Given the description of an element on the screen output the (x, y) to click on. 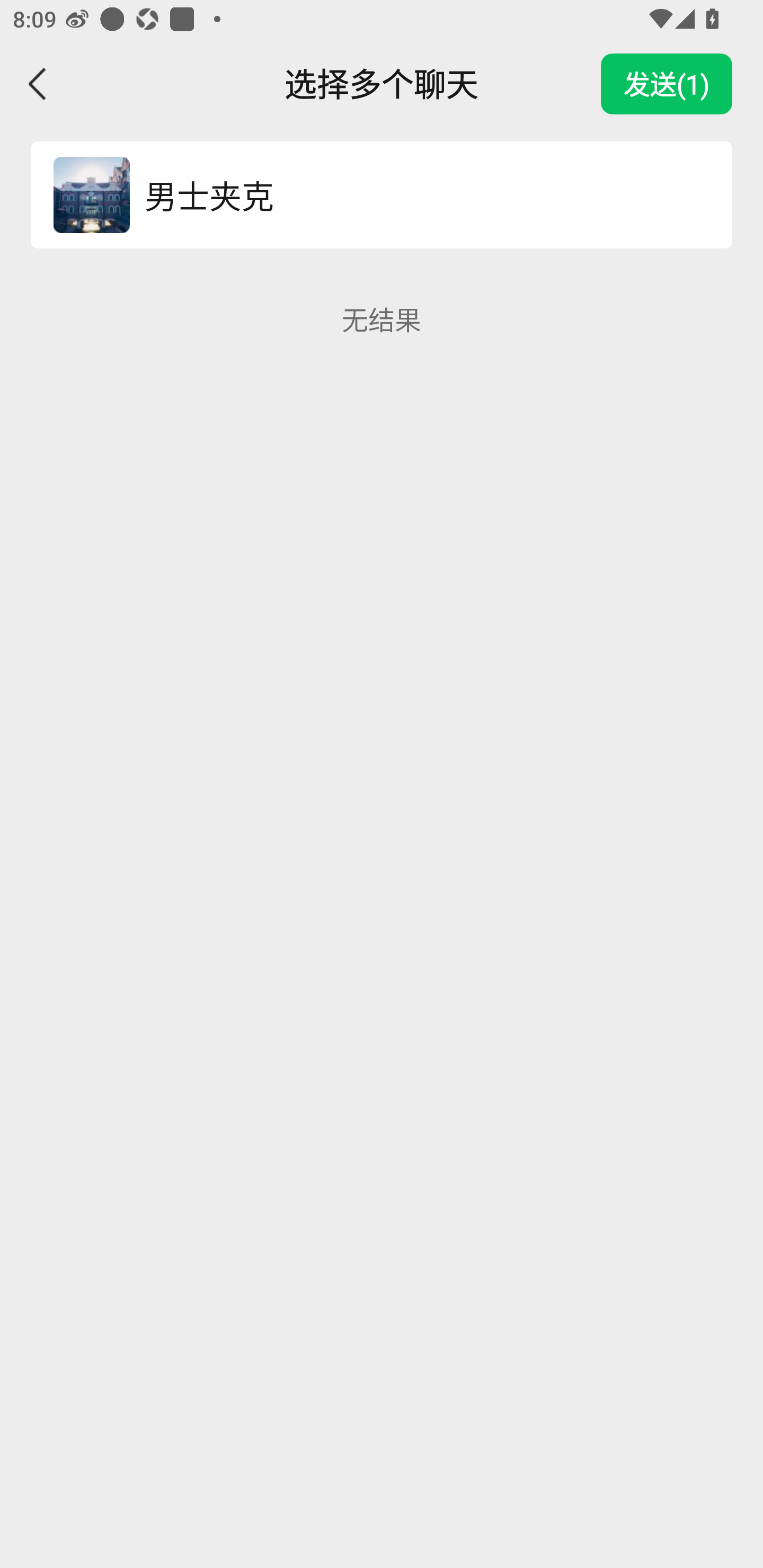
返回 (38, 83)
发送(1) (666, 83)
CYX (91, 194)
男士夹克 (418, 194)
